Given the description of an element on the screen output the (x, y) to click on. 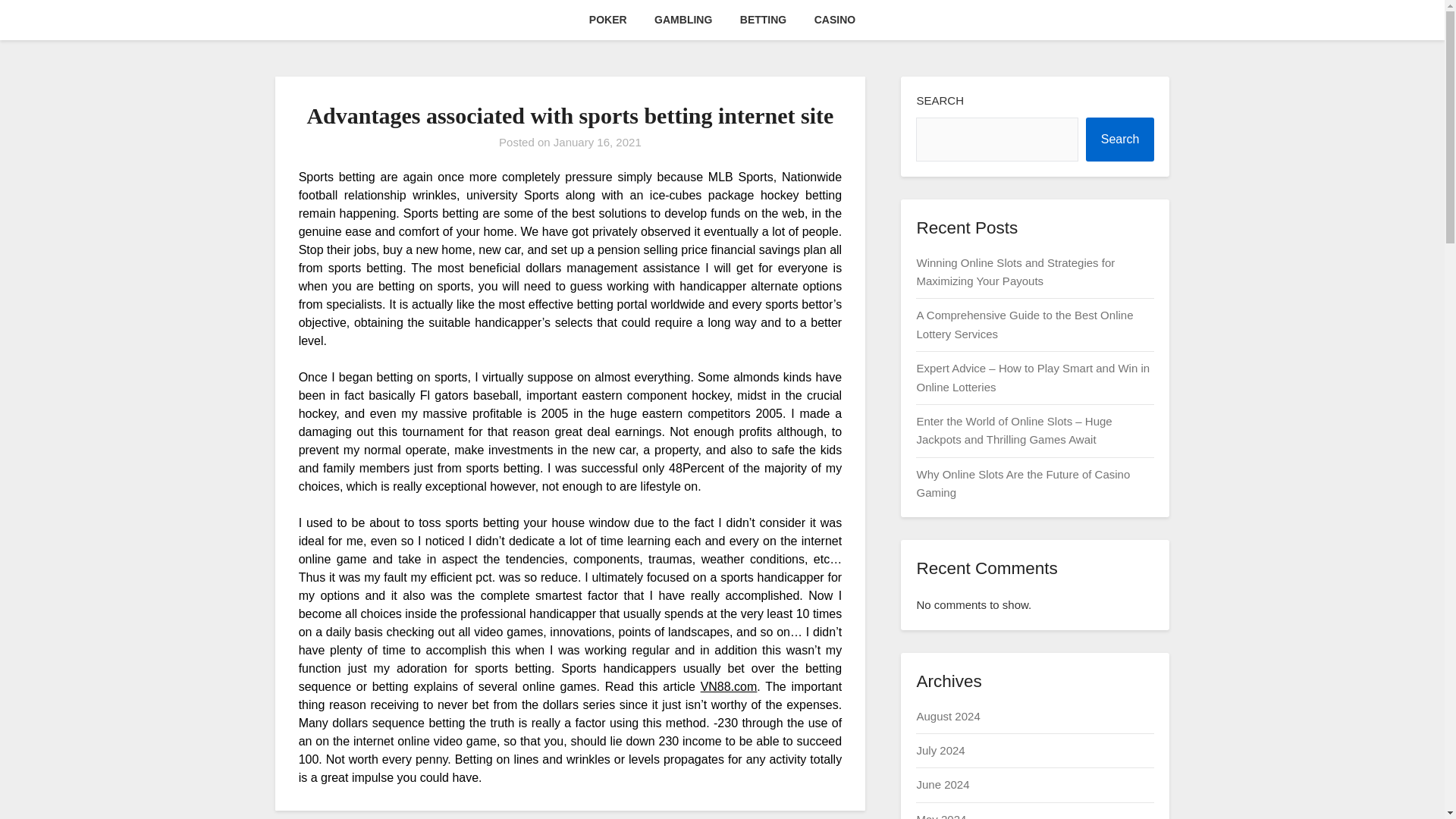
A Comprehensive Guide to the Best Online Lottery Services (1023, 323)
CASINO (834, 20)
BETTING (762, 20)
July 2024 (939, 749)
May 2024 (940, 816)
VN88.com (728, 686)
January 16, 2021 (597, 141)
August 2024 (947, 716)
June 2024 (942, 784)
